Given the description of an element on the screen output the (x, y) to click on. 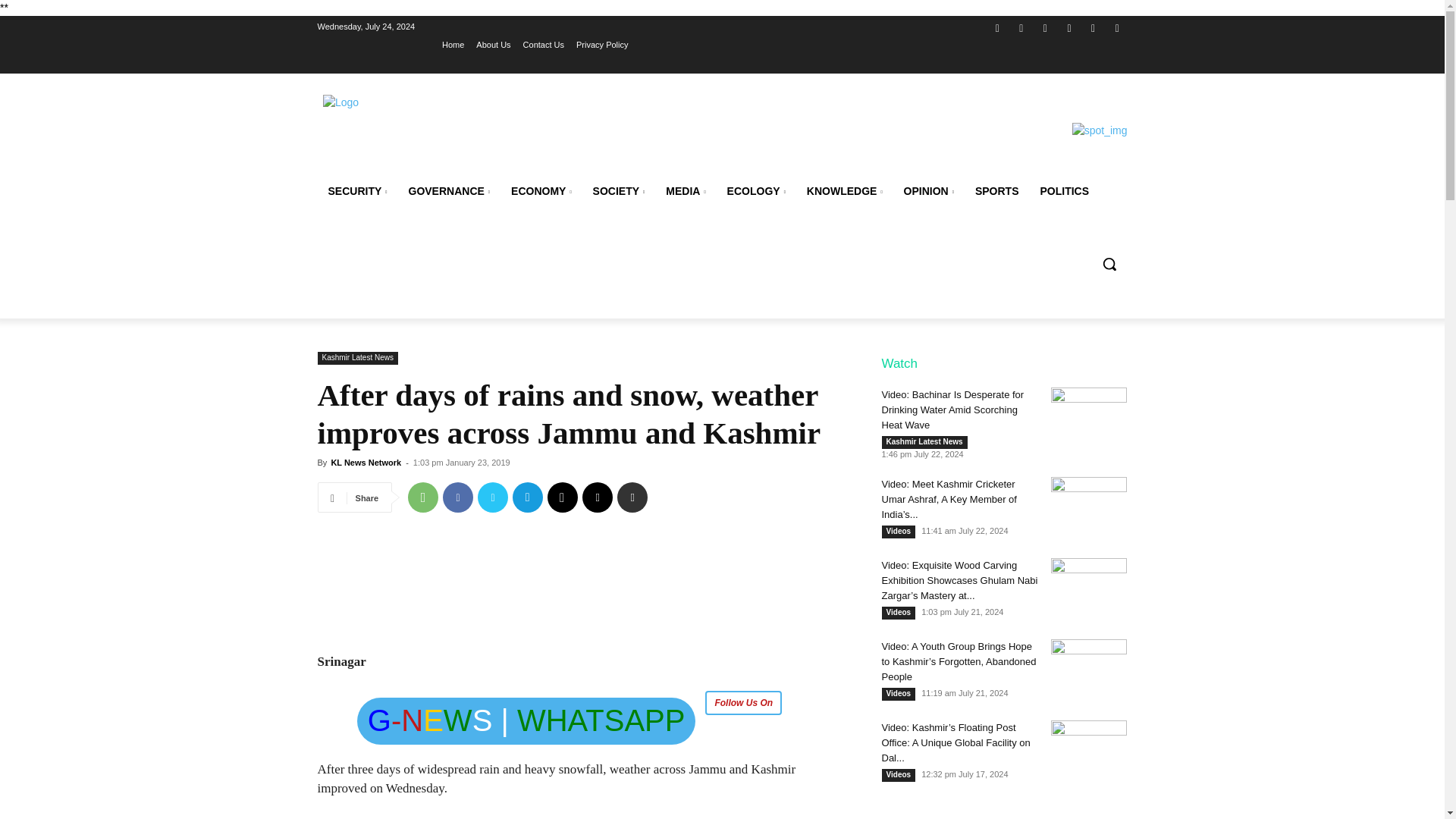
Website (1069, 28)
Youtube (1116, 28)
Instagram (1021, 28)
Facebook (997, 28)
Twitter (1045, 28)
WhatsApp (422, 497)
WhatsApp (1093, 28)
